Given the description of an element on the screen output the (x, y) to click on. 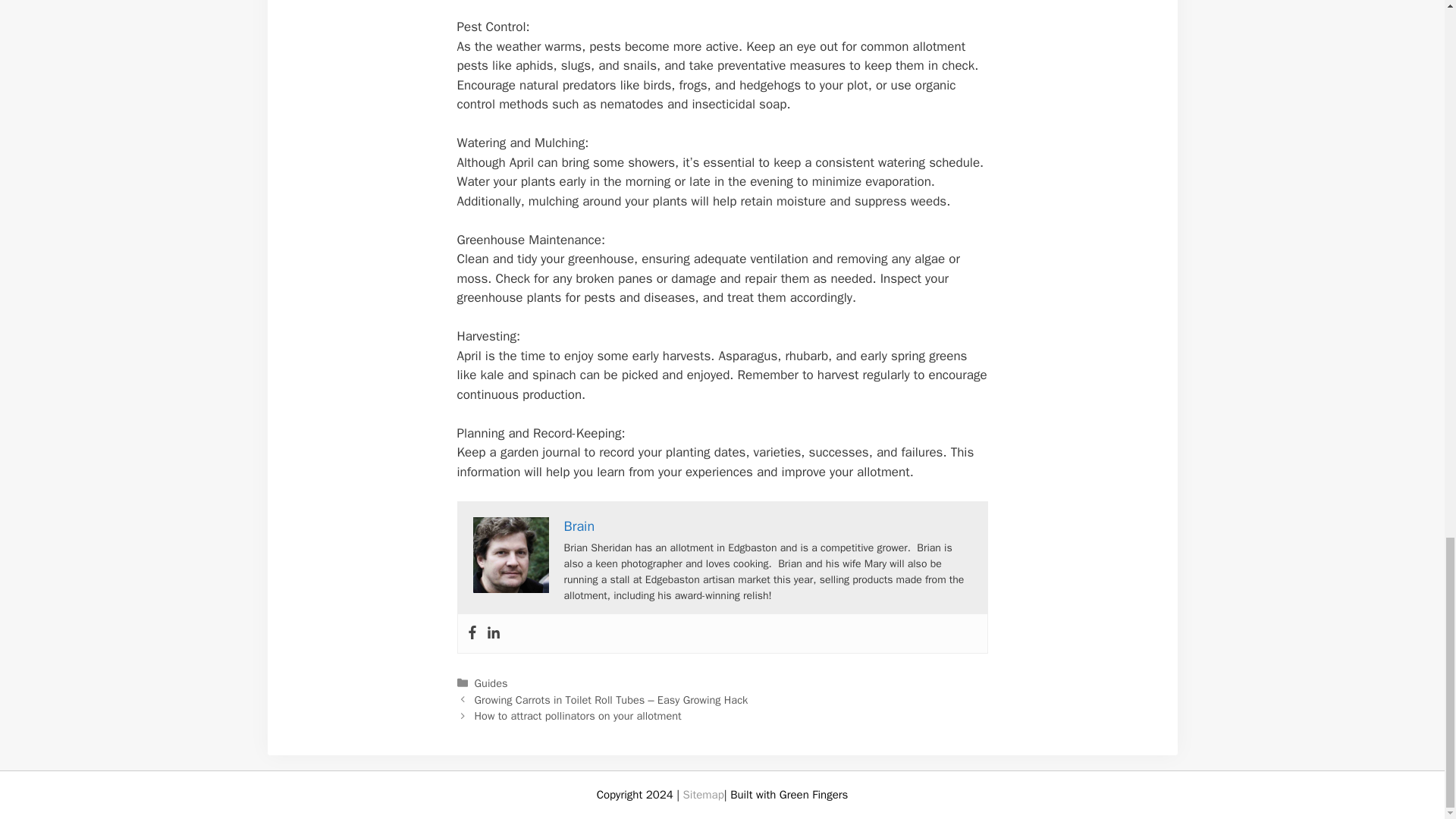
How to attract pollinators on your allotment (577, 715)
Brain (579, 525)
Sitemap (702, 794)
Guides (491, 683)
